Given the description of an element on the screen output the (x, y) to click on. 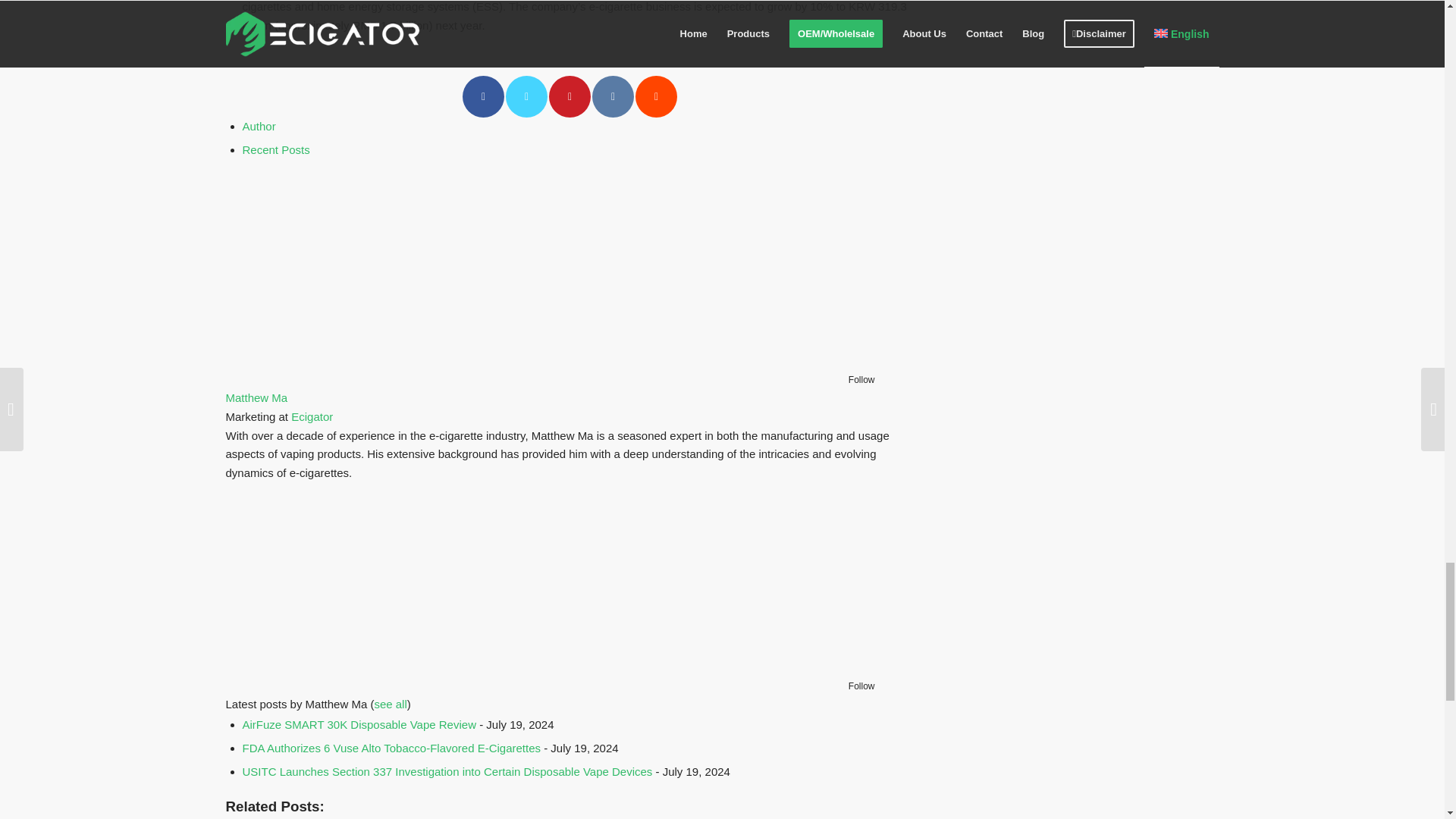
Matthew Ma (319, 667)
FDA Authorizes 6 Vuse Alto Tobacco-Flavored E-Cigarettes (392, 748)
AirFuze SMART 30K Disposable Vape Review (359, 724)
Ecigator (312, 416)
see all (390, 703)
Matthew Ma (319, 361)
Author (259, 125)
Matthew Ma (256, 397)
Recent Posts (276, 149)
